Given the description of an element on the screen output the (x, y) to click on. 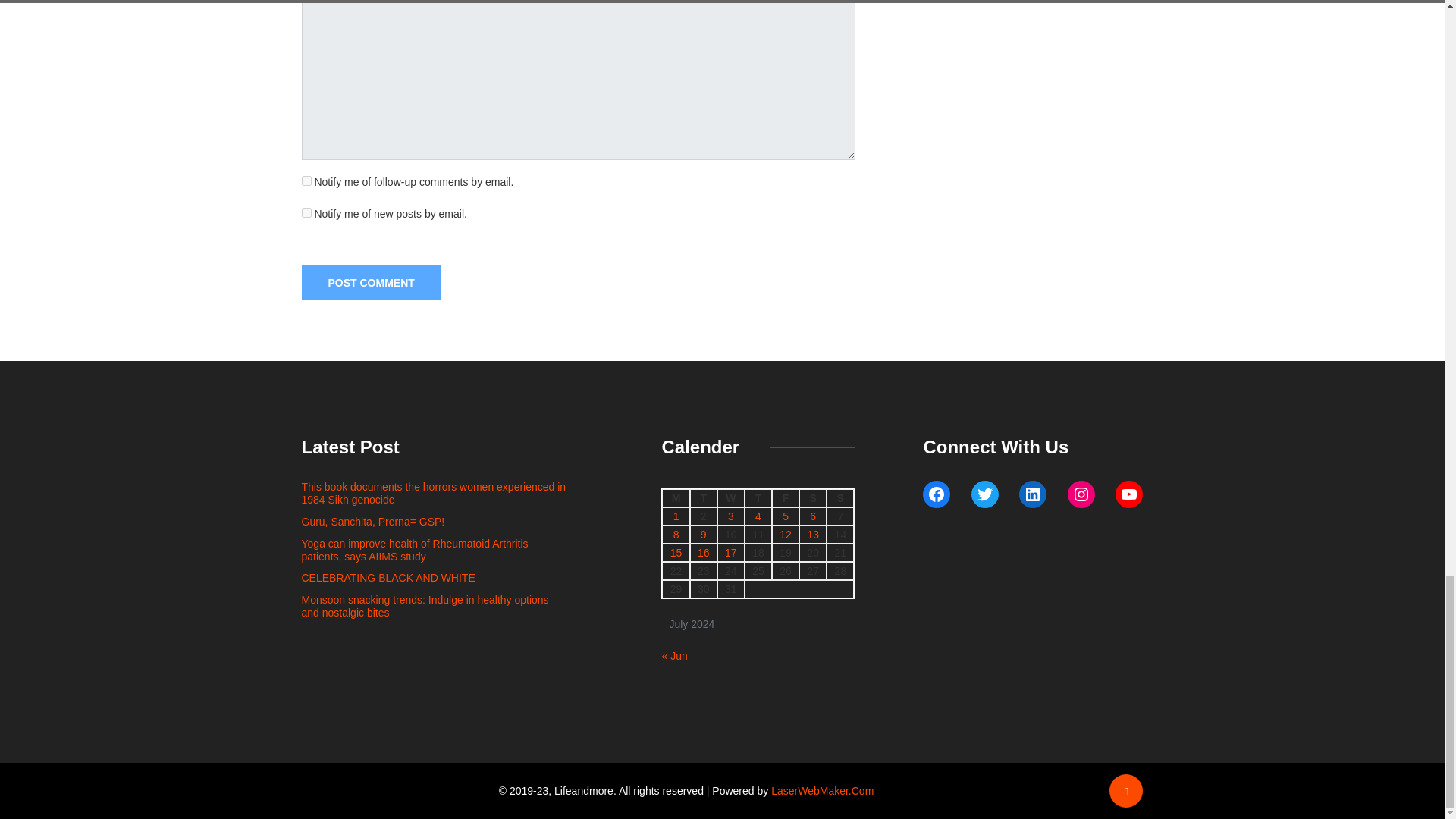
subscribe (306, 212)
Post Comment (371, 282)
subscribe (306, 180)
